Given the description of an element on the screen output the (x, y) to click on. 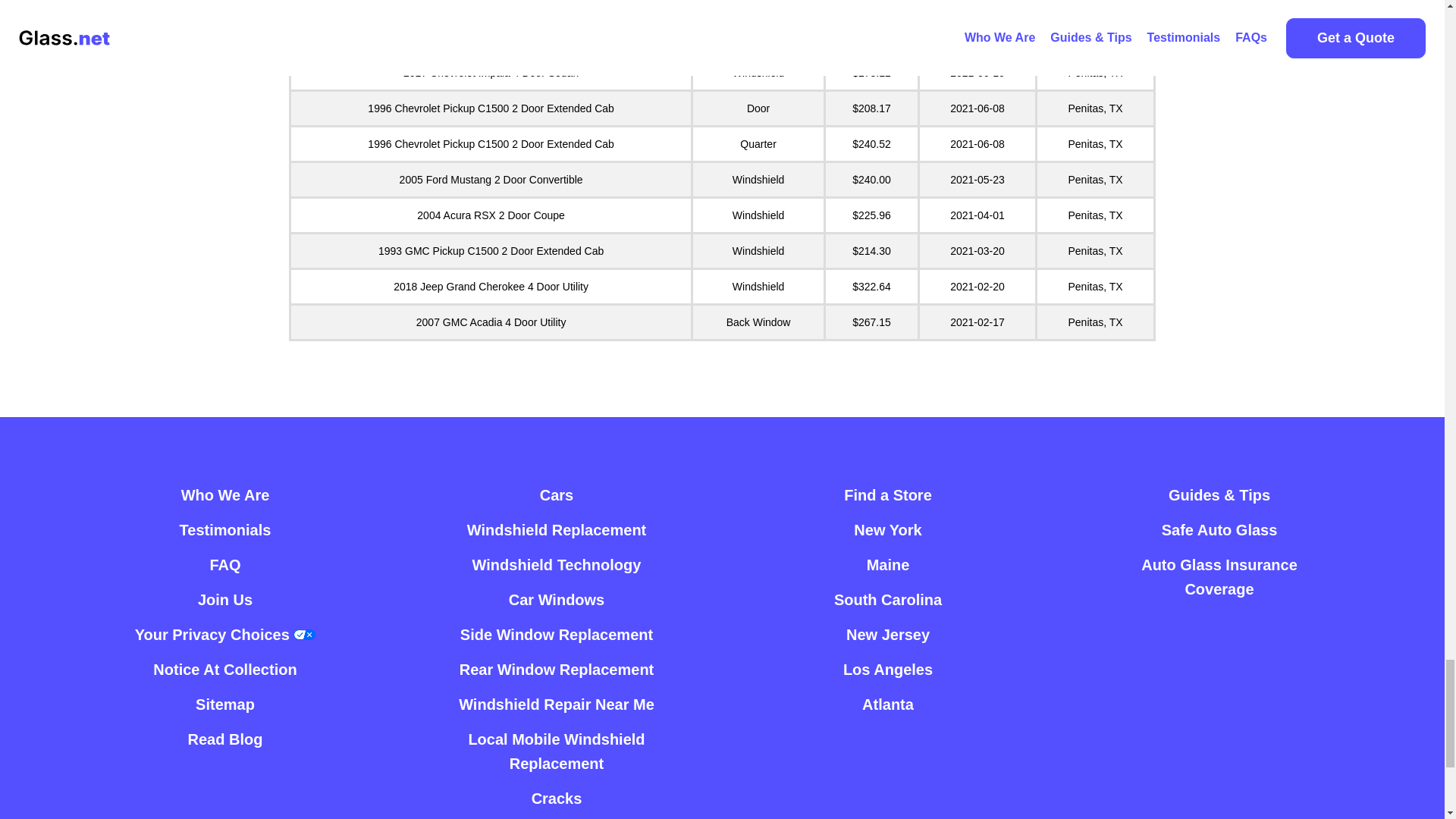
Glass.NET Website Sitemap  (224, 704)
Cracks (556, 798)
Windshield Technology (556, 564)
Rear Window Replacement (556, 669)
Repair or Replace Auto Glass By Car Make (556, 494)
Scratches (555, 817)
New York (887, 529)
Articles and Tips for Car Owners (225, 738)
South Carolina (888, 599)
Read Blog (225, 738)
